Given the description of an element on the screen output the (x, y) to click on. 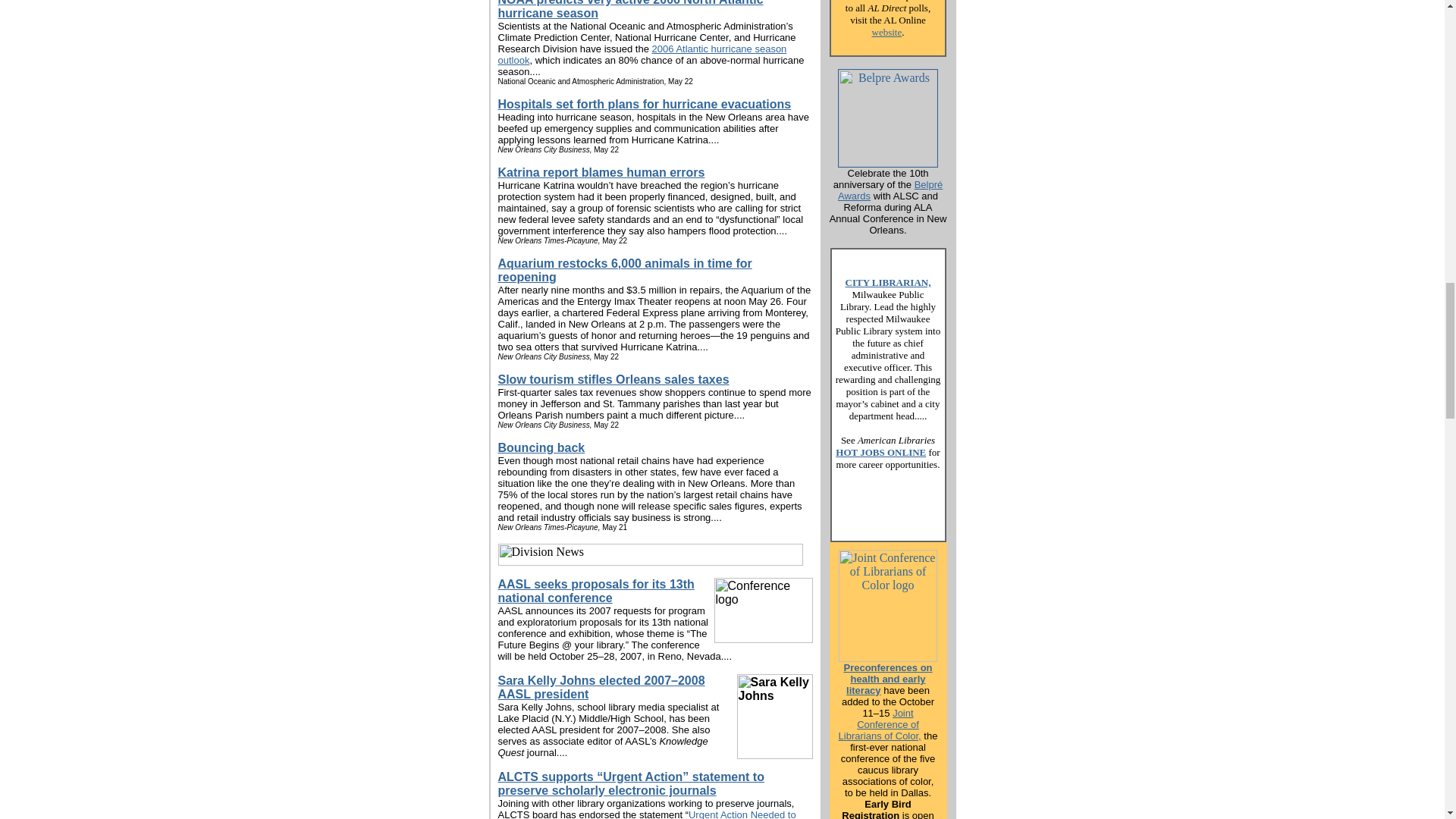
AASL seeks proposals for its 13th national conference (595, 591)
Hospitals set forth plans for hurricane evacuations (643, 103)
2006 Atlantic hurricane season outlook (641, 54)
Katrina report blames human errors (600, 172)
Slow tourism stifles Orleans sales taxes (613, 379)
Bouncing back (541, 447)
Aquarium restocks 6,000 animals in time for reopening (624, 270)
